Given the description of an element on the screen output the (x, y) to click on. 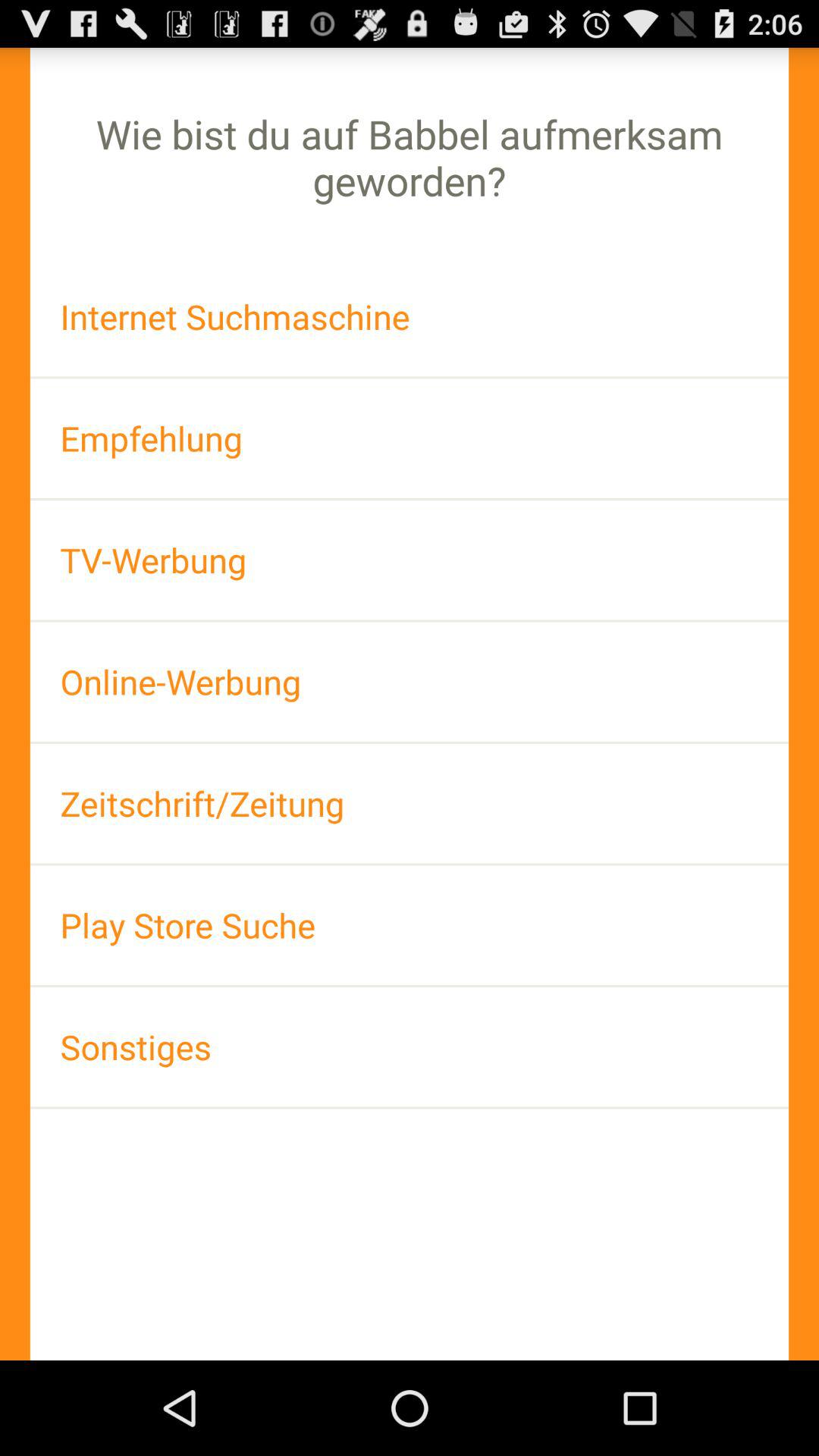
launch app above the zeitschrift/zeitung app (409, 681)
